Given the description of an element on the screen output the (x, y) to click on. 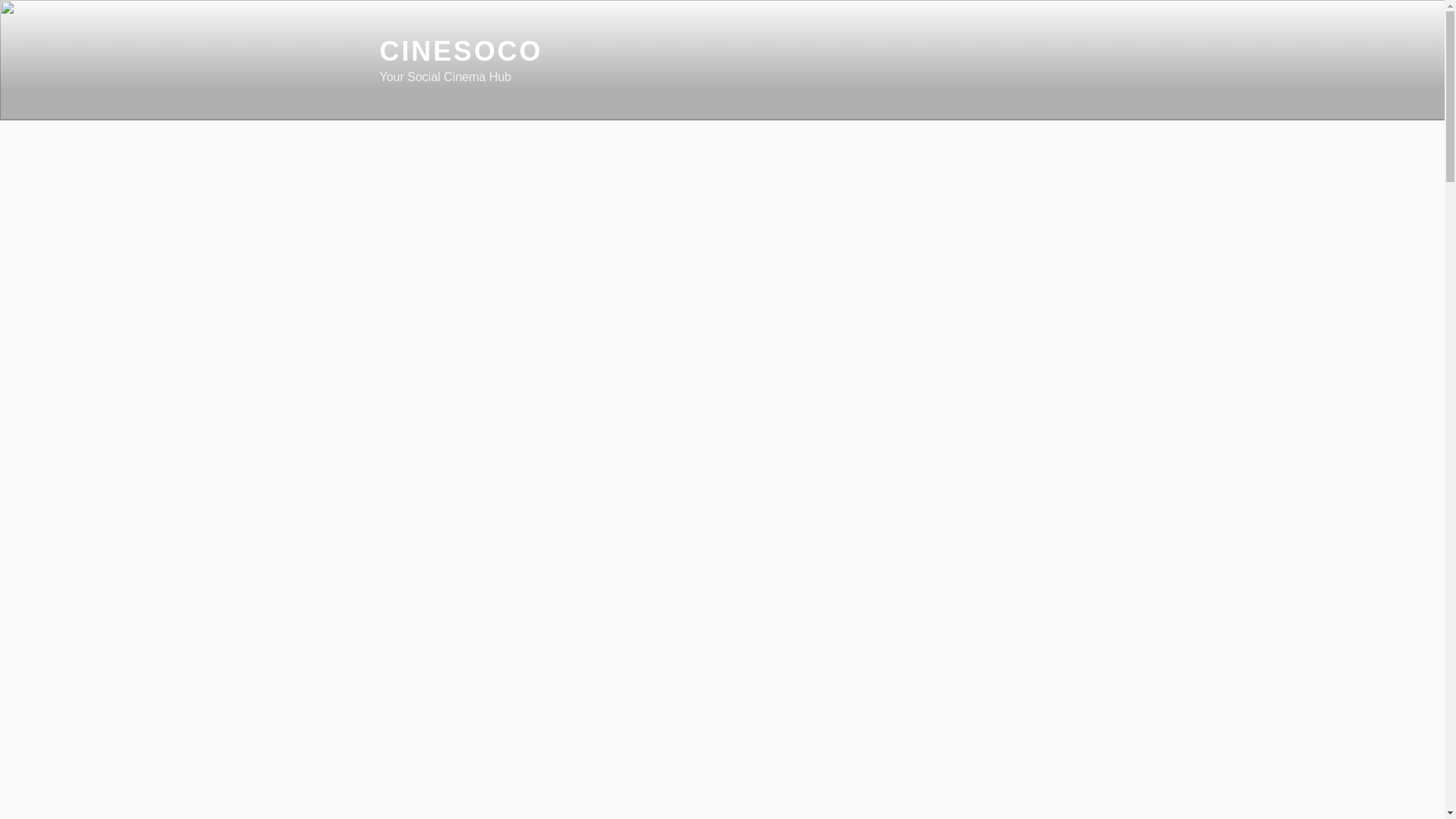
CINESOCO (459, 51)
